Given the description of an element on the screen output the (x, y) to click on. 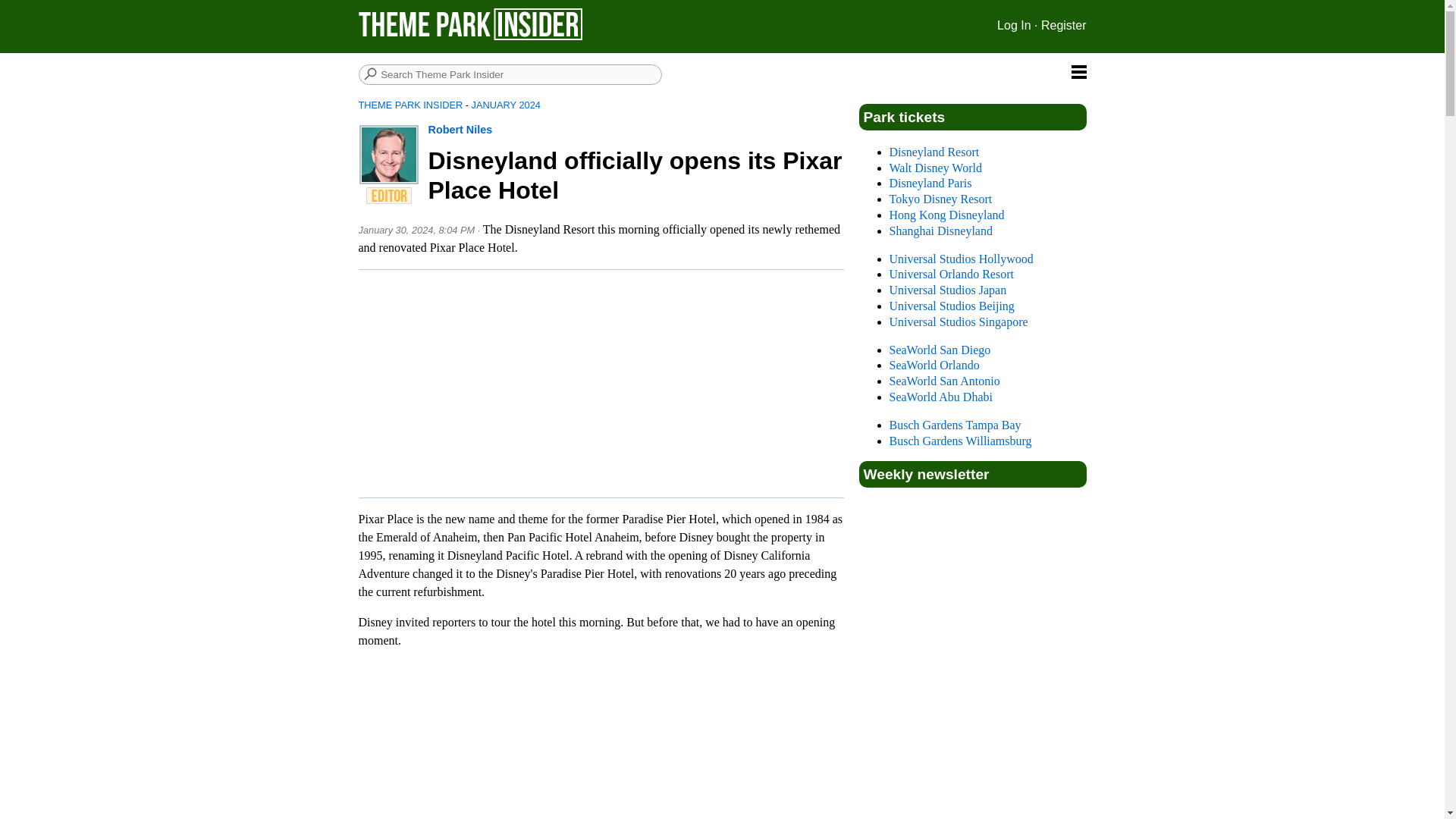
Log In (1013, 24)
Park tickets (903, 116)
Walt Disney World (934, 167)
Register (1063, 24)
Universal Studios Beijing (950, 305)
Universal Studios Japan (947, 289)
Robert Niles (460, 129)
Theme Park Insider (470, 23)
Advertisement (607, 383)
Hong Kong Disneyland (946, 214)
Universal Studios Singapore (957, 321)
Theme Park Insider (470, 36)
Universal Orlando Resort (950, 273)
JANUARY 2024 (505, 104)
YouTube video player (600, 740)
